Given the description of an element on the screen output the (x, y) to click on. 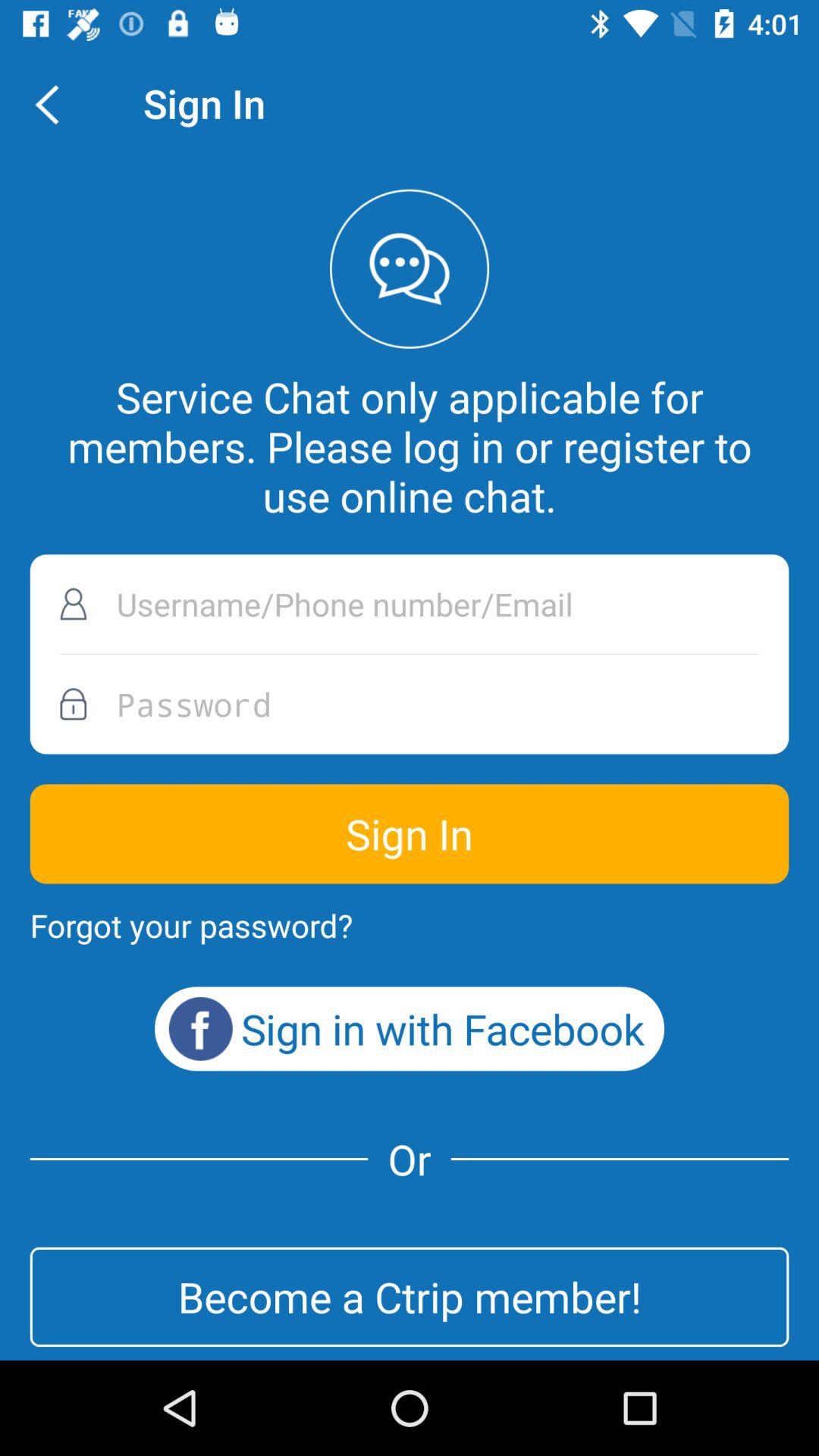
tap item below the sign in icon (191, 924)
